Given the description of an element on the screen output the (x, y) to click on. 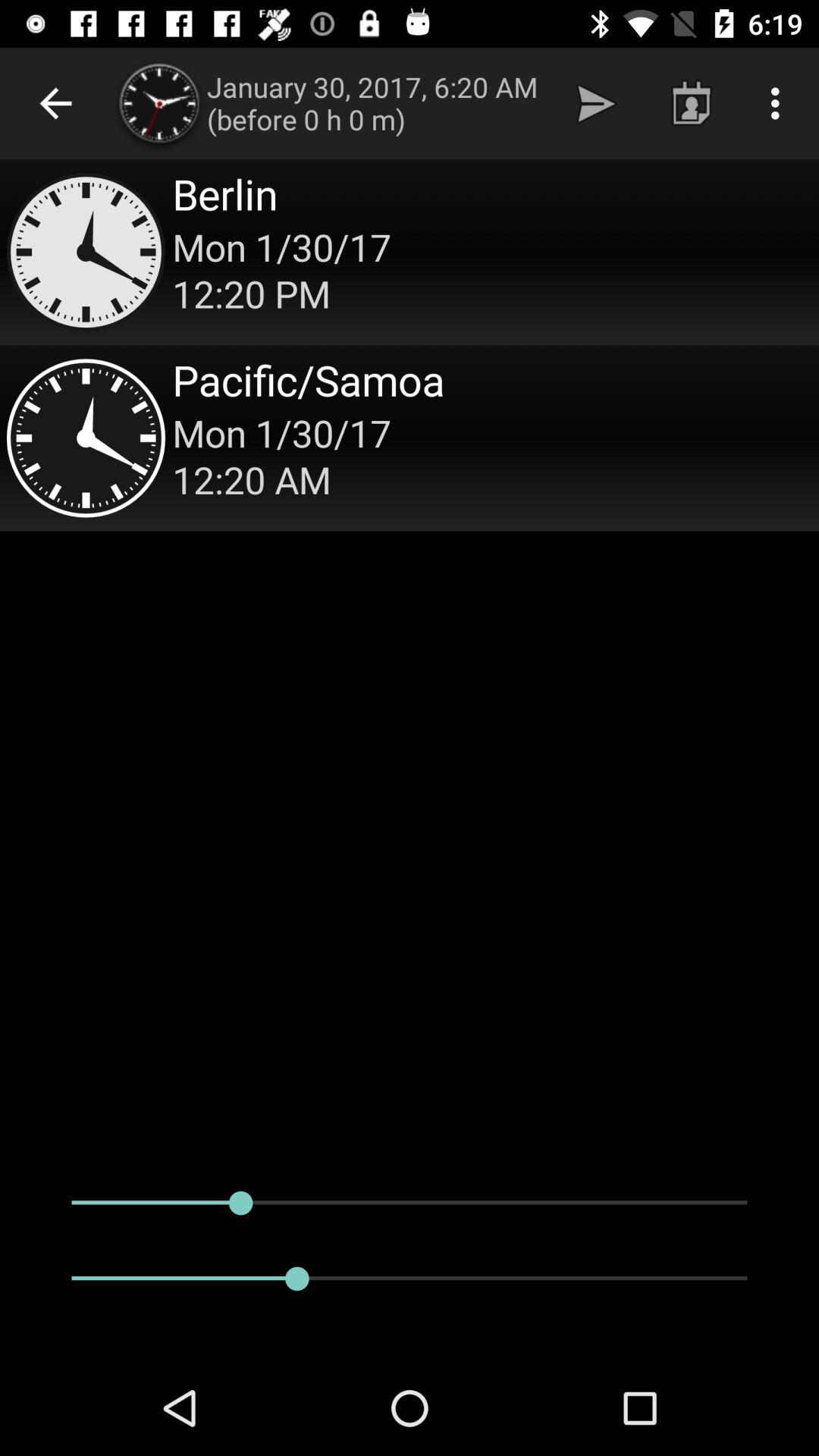
activate pacific time (409, 438)
